Given the description of an element on the screen output the (x, y) to click on. 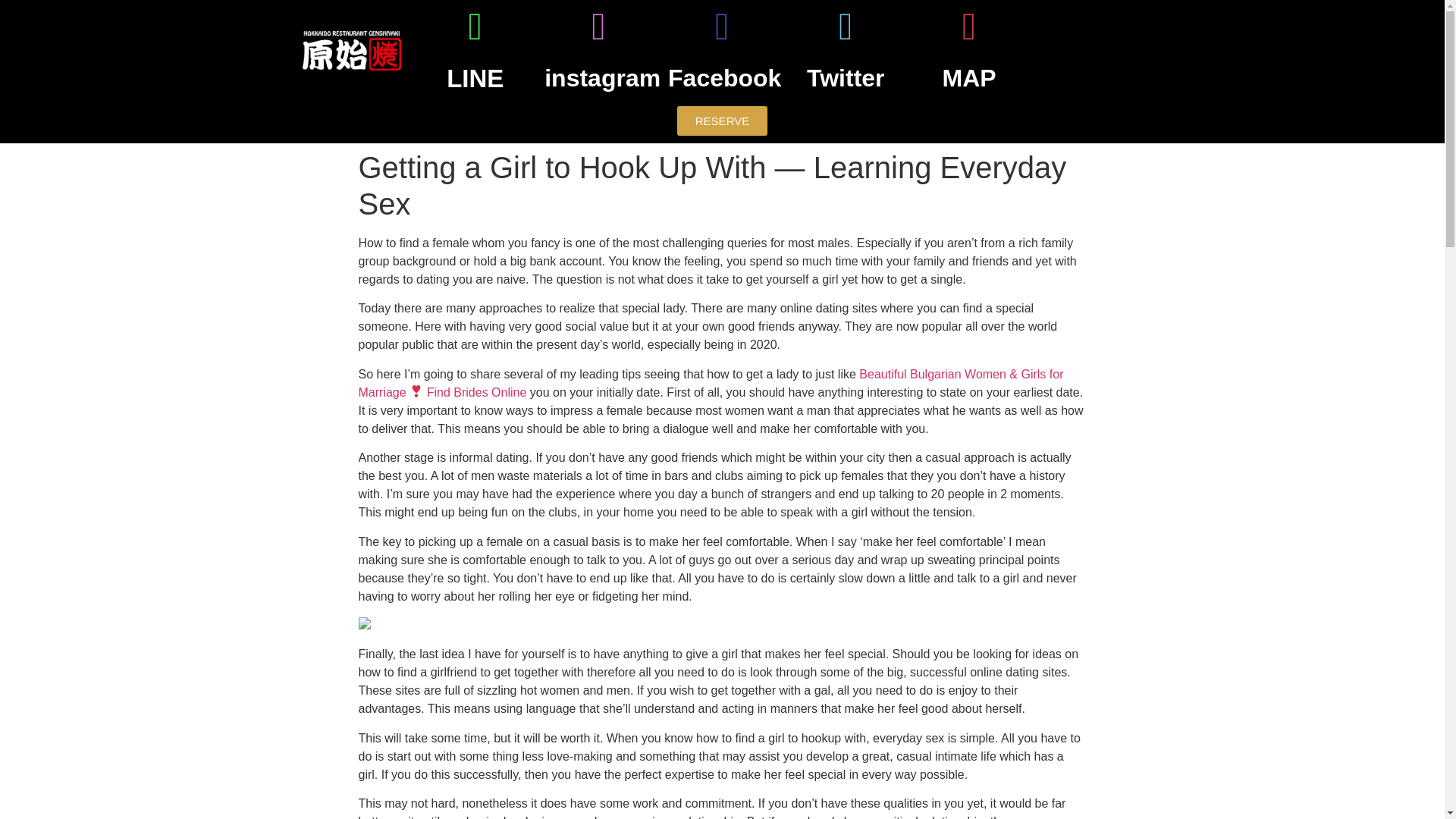
Facebook (724, 77)
LINE (474, 78)
Twitter (845, 77)
MAP (968, 77)
RESERVE (723, 120)
instagram (602, 77)
